Given the description of an element on the screen output the (x, y) to click on. 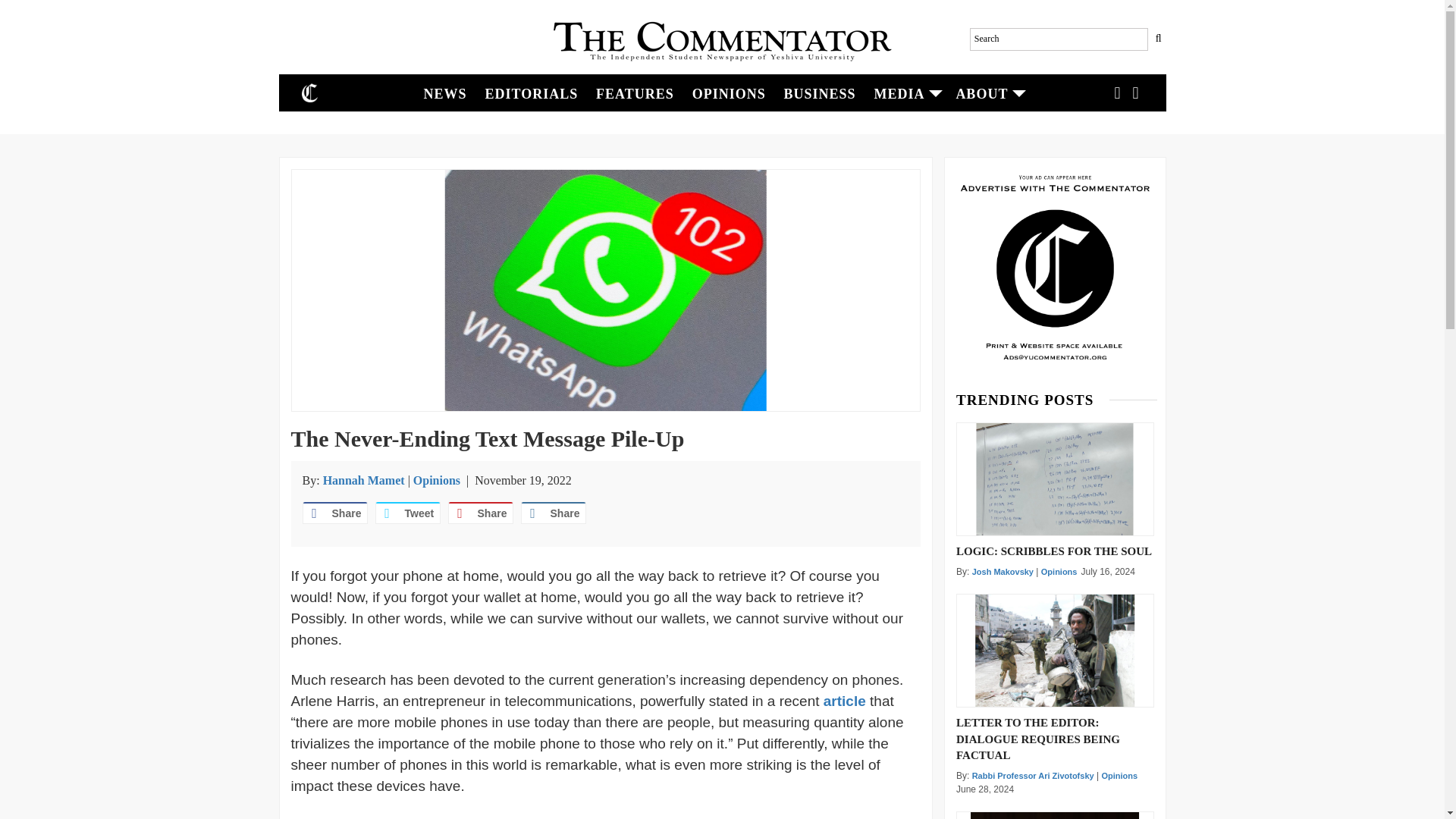
Opinions (436, 480)
Share (479, 513)
LOGIC: SCRIBBLES FOR THE SOUL (1055, 549)
OPINIONS (728, 92)
The Never-Ending Text Message Pile-Up (606, 290)
BUSINESS (819, 92)
Letter to The Editor: Dialogue Requires Being Factual (1054, 650)
ABOUT (987, 92)
Share (333, 513)
Share on Twitter (406, 513)
When Will The Federal Reserve Lower Interest Rates? (1054, 815)
Logic: Scribbles for the Soul (1055, 479)
NEWS (445, 92)
MEDIA (905, 92)
Hannah Mamet (363, 480)
